Given the description of an element on the screen output the (x, y) to click on. 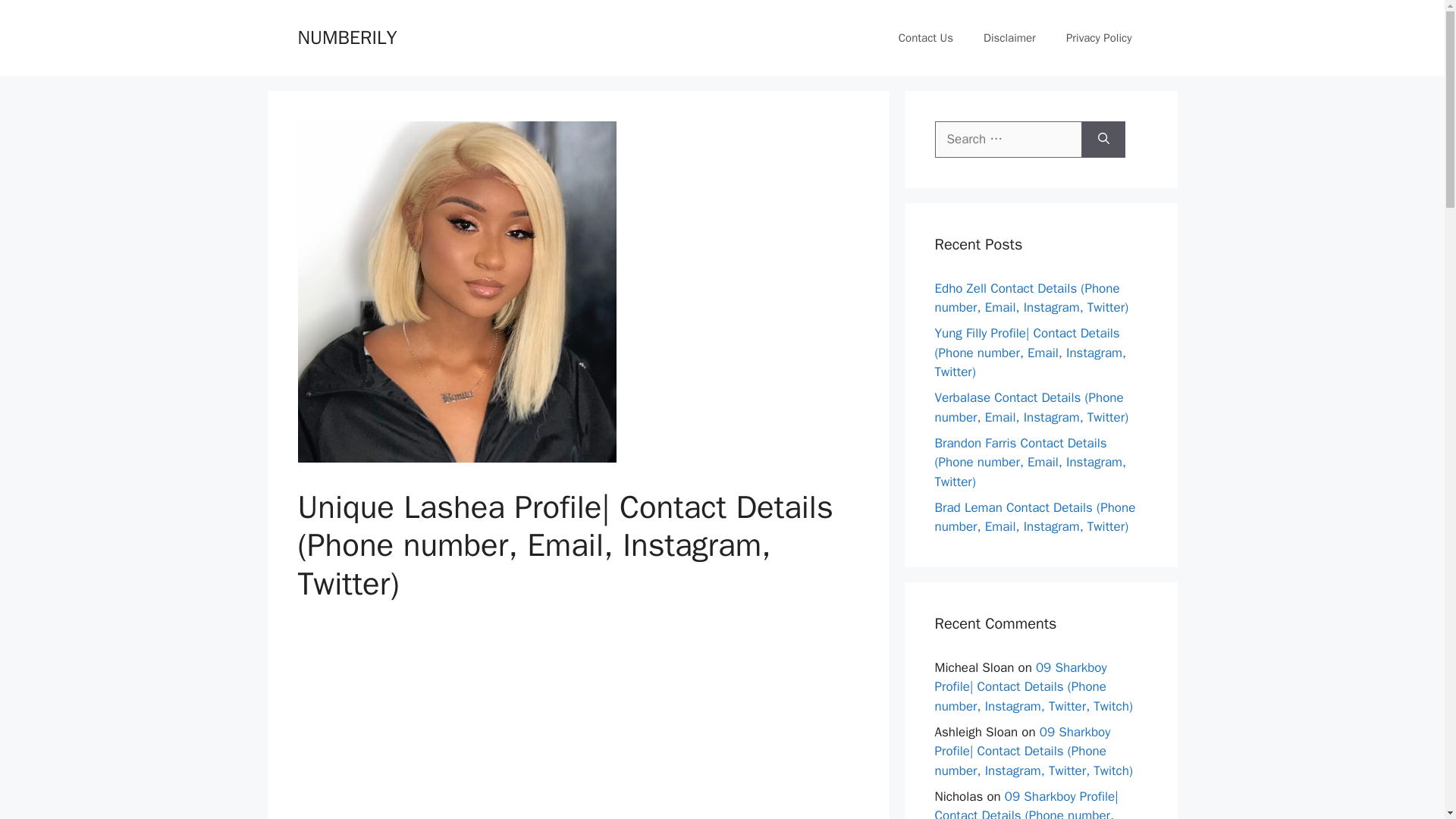
Advertisement (578, 723)
Contact Us (925, 37)
Search for: (1007, 139)
NUMBERILY (346, 37)
Disclaimer (1009, 37)
Privacy Policy (1099, 37)
